Given the description of an element on the screen output the (x, y) to click on. 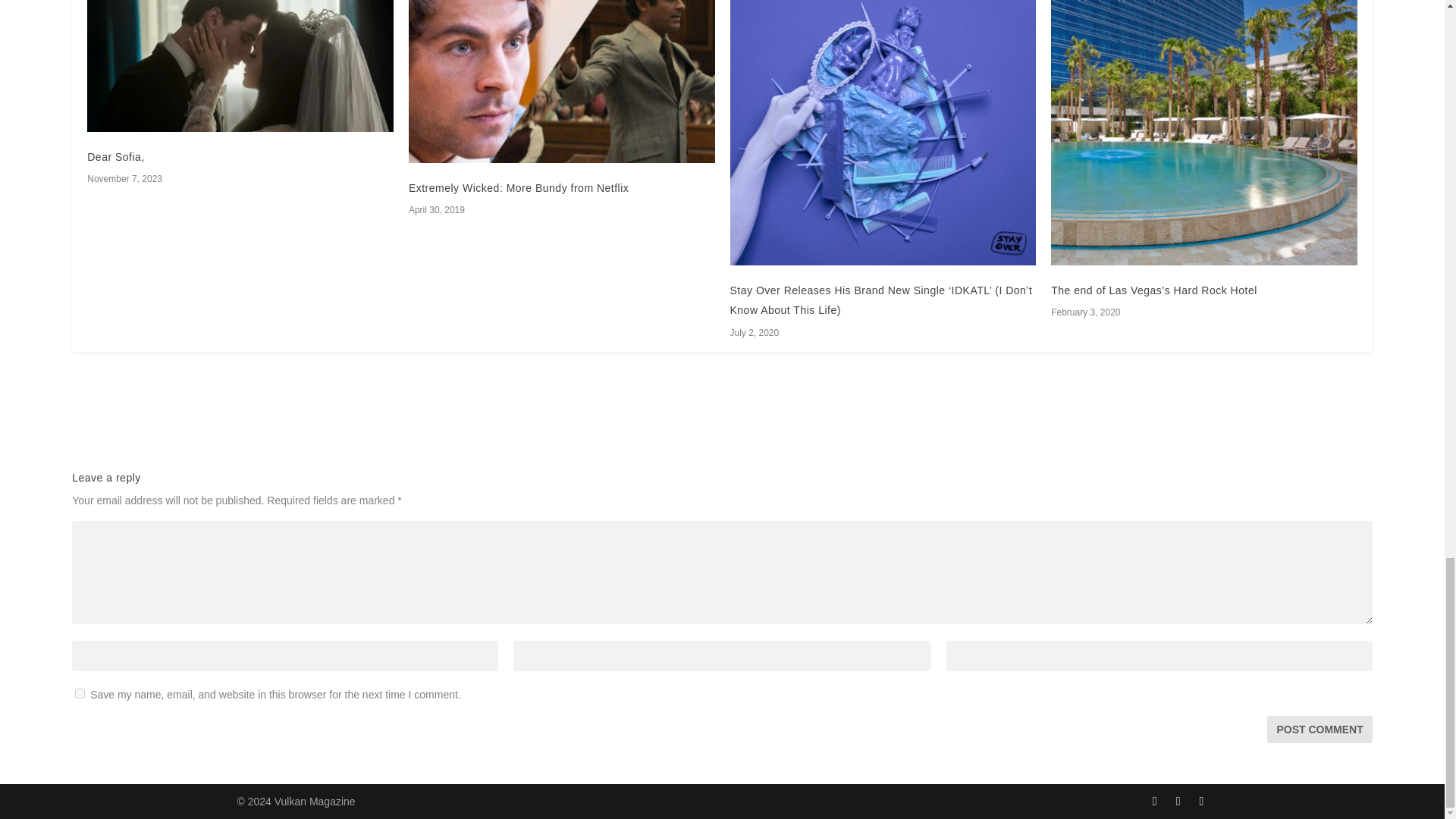
Post Comment (1318, 728)
yes (79, 693)
